Given the description of an element on the screen output the (x, y) to click on. 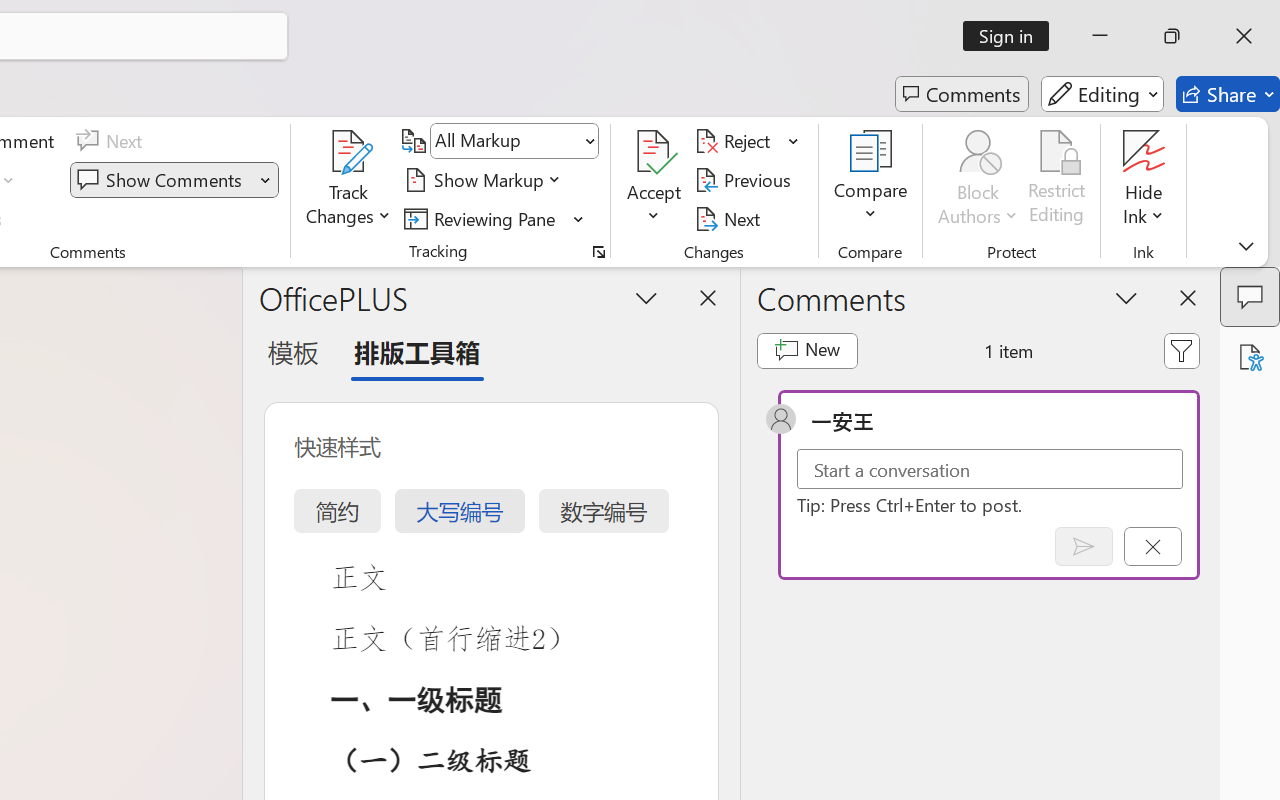
Previous (745, 179)
Display for Review (514, 141)
Reviewing Pane (483, 218)
Track Changes (349, 179)
Show Comments (174, 179)
Accept and Move to Next (653, 151)
Change Tracking Options... (598, 252)
Reviewing Pane (494, 218)
Hide Ink (1144, 151)
Hide Ink (1144, 179)
Show Markup (485, 179)
